Given the description of an element on the screen output the (x, y) to click on. 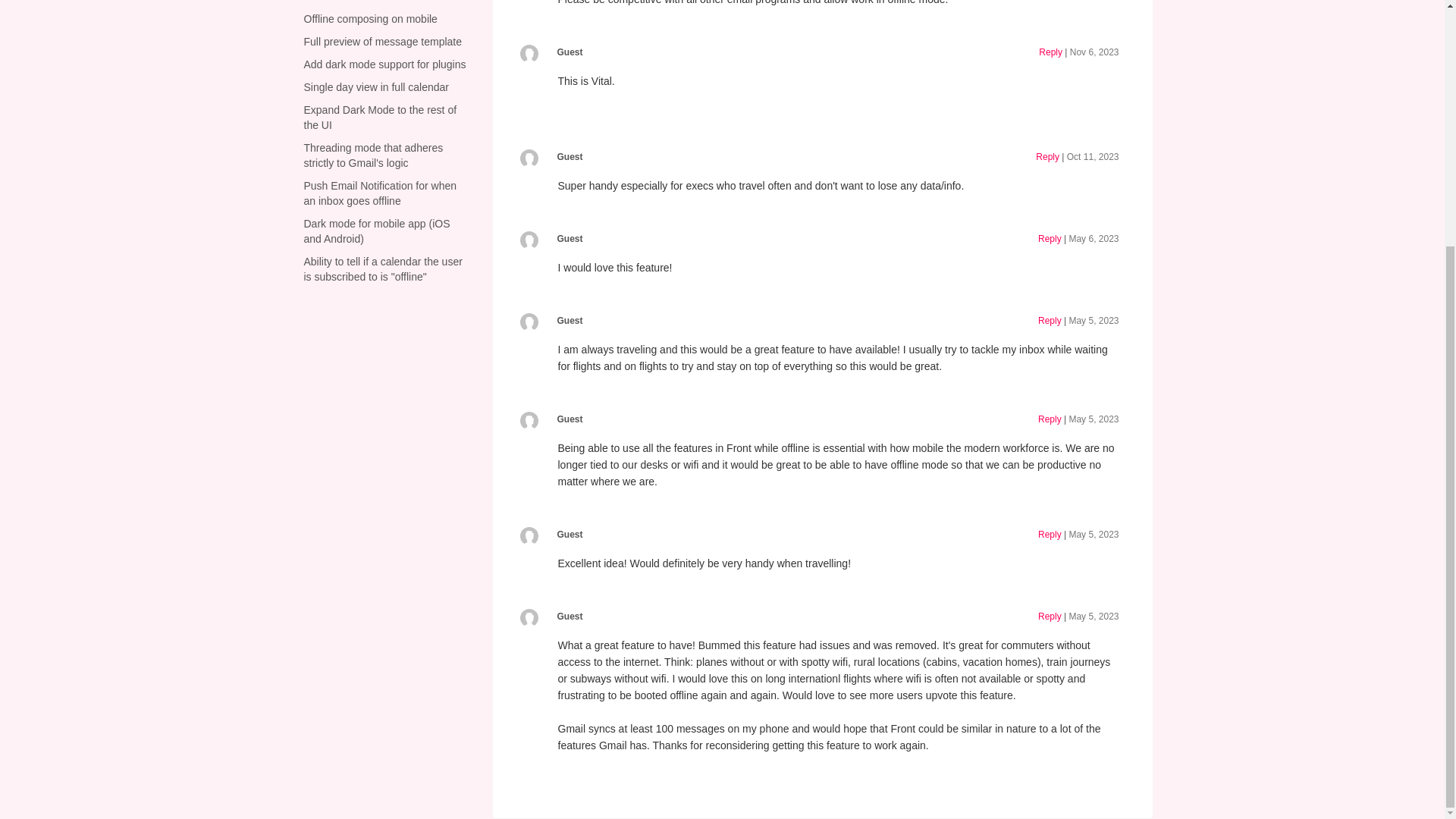
Reply (1050, 51)
Expand Dark Mode to the rest of the UI (379, 117)
Threading mode that adheres strictly to Gmail's logic (372, 154)
Add dark mode support for plugins (383, 64)
Single day view in full calendar (375, 87)
Push Email Notification for when an inbox goes offline (379, 193)
Reply (1049, 320)
Reply (1049, 238)
Reply (1047, 156)
Offline composing on mobile (369, 19)
Full preview of message template (381, 41)
